Given the description of an element on the screen output the (x, y) to click on. 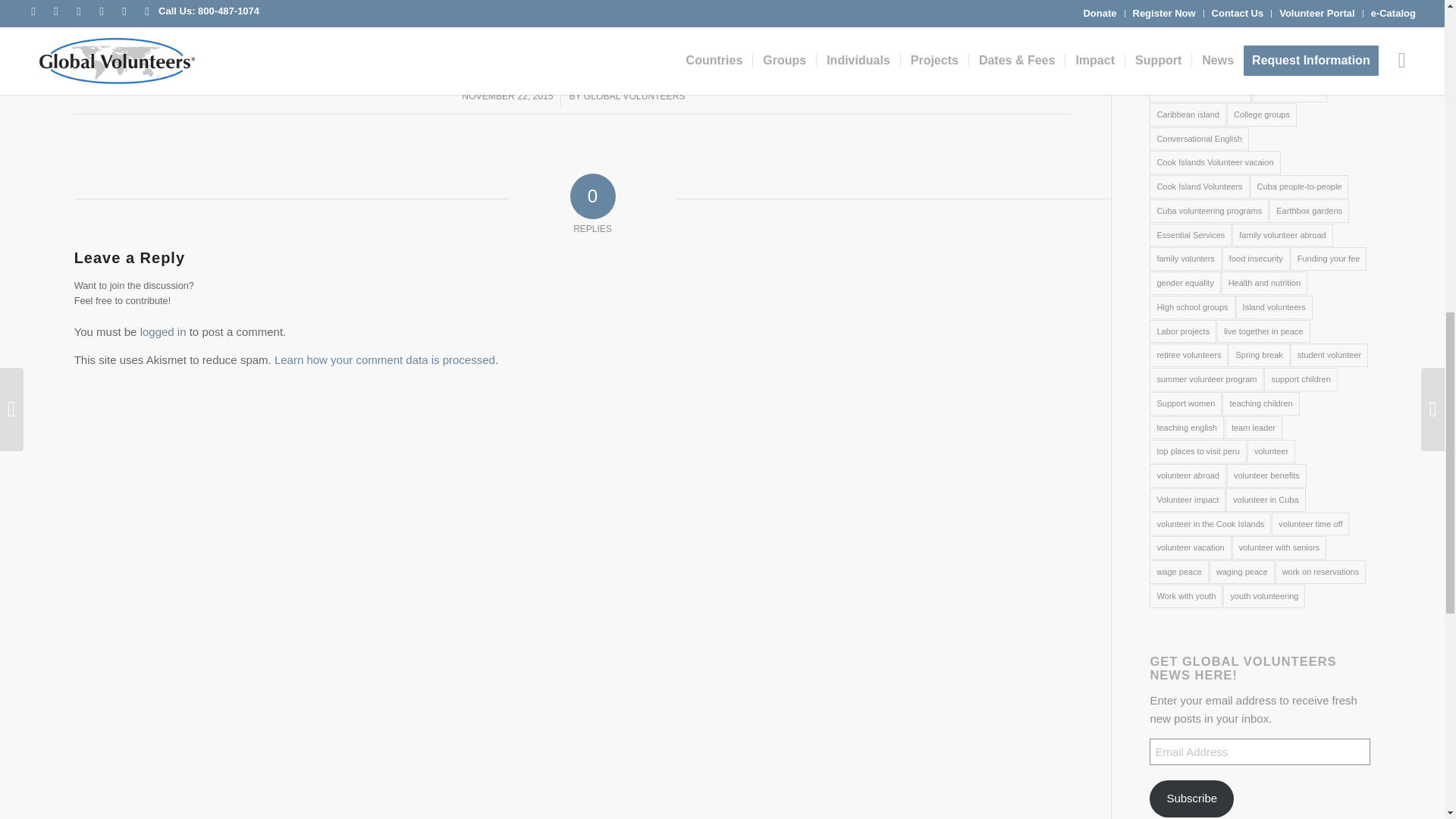
Click to share on Facebook (180, 22)
Click to share on LinkedIn (260, 22)
Click to share on Twitter (105, 22)
